Given the description of an element on the screen output the (x, y) to click on. 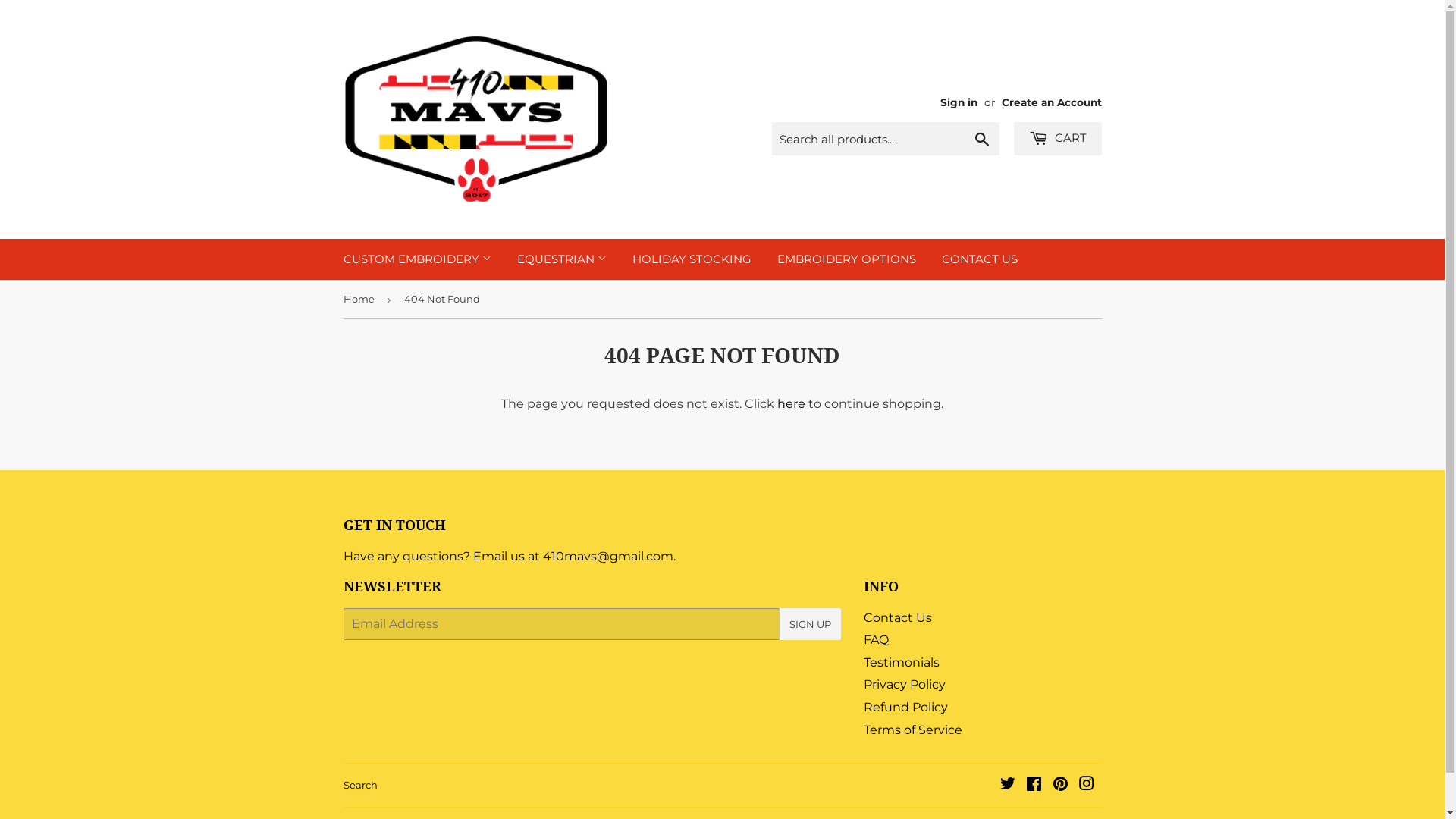
CONTACT US Element type: text (978, 258)
Twitter Element type: text (1006, 785)
here Element type: text (791, 403)
Search Element type: text (981, 139)
HOLIDAY STOCKING Element type: text (691, 258)
Privacy Policy Element type: text (904, 684)
Refund Policy Element type: text (905, 706)
FAQ Element type: text (875, 639)
Sign in Element type: text (958, 102)
Contact Us Element type: text (897, 617)
CUSTOM EMBROIDERY Element type: text (417, 258)
Terms of Service Element type: text (912, 729)
Home Element type: text (360, 298)
Testimonials Element type: text (901, 662)
Create an Account Element type: text (1051, 102)
EMBROIDERY OPTIONS Element type: text (846, 258)
Search Element type: text (359, 784)
Instagram Element type: text (1085, 785)
EQUESTRIAN Element type: text (561, 258)
SIGN UP Element type: text (809, 624)
Pinterest Element type: text (1060, 785)
CART Element type: text (1057, 138)
Facebook Element type: text (1033, 785)
